Given the description of an element on the screen output the (x, y) to click on. 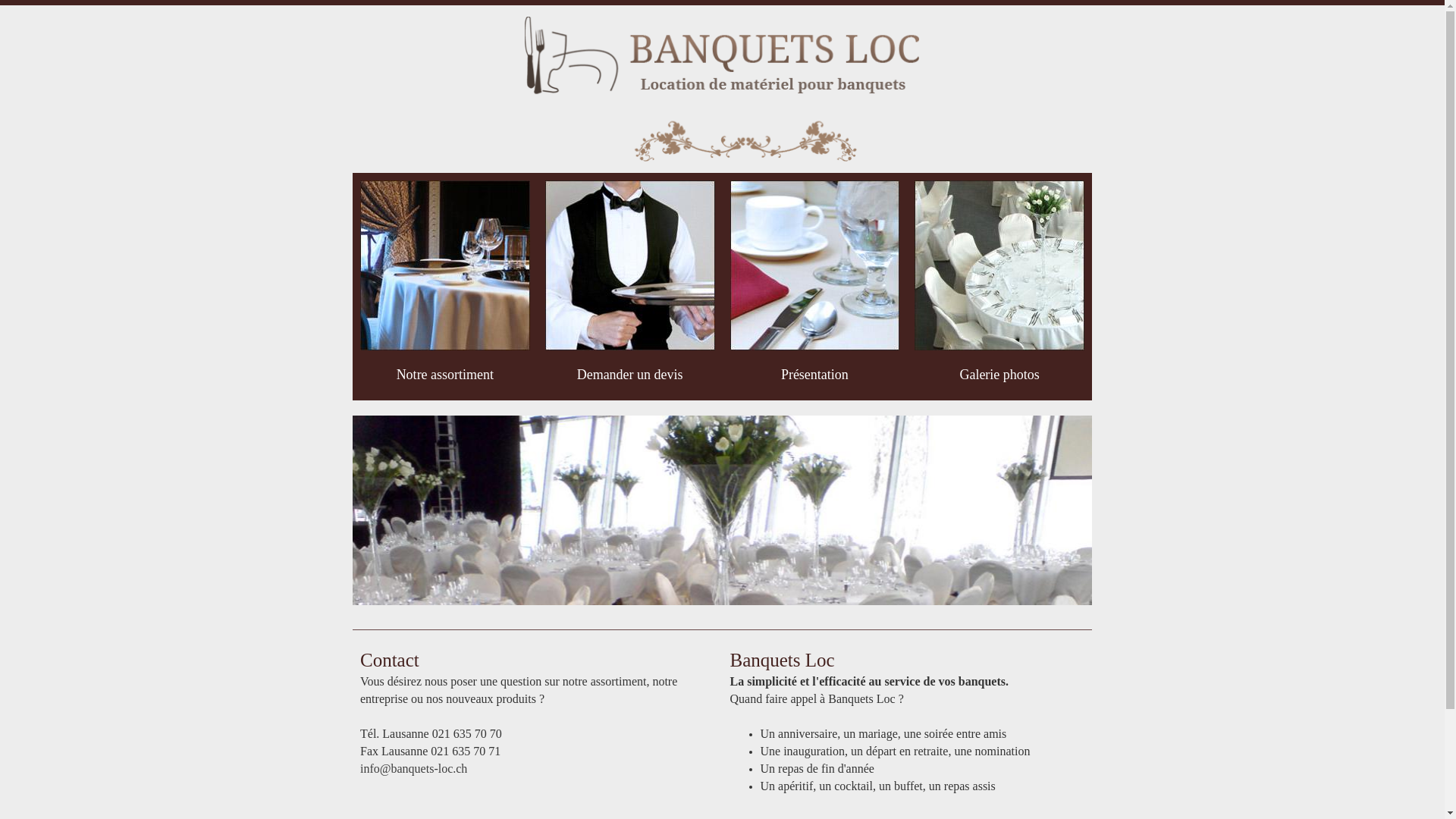
Galerie photos Element type: text (998, 374)
Demander un devis Element type: text (630, 374)
Notre assortiment Element type: text (444, 374)
info@banquets-loc.ch Element type: text (413, 768)
